Given the description of an element on the screen output the (x, y) to click on. 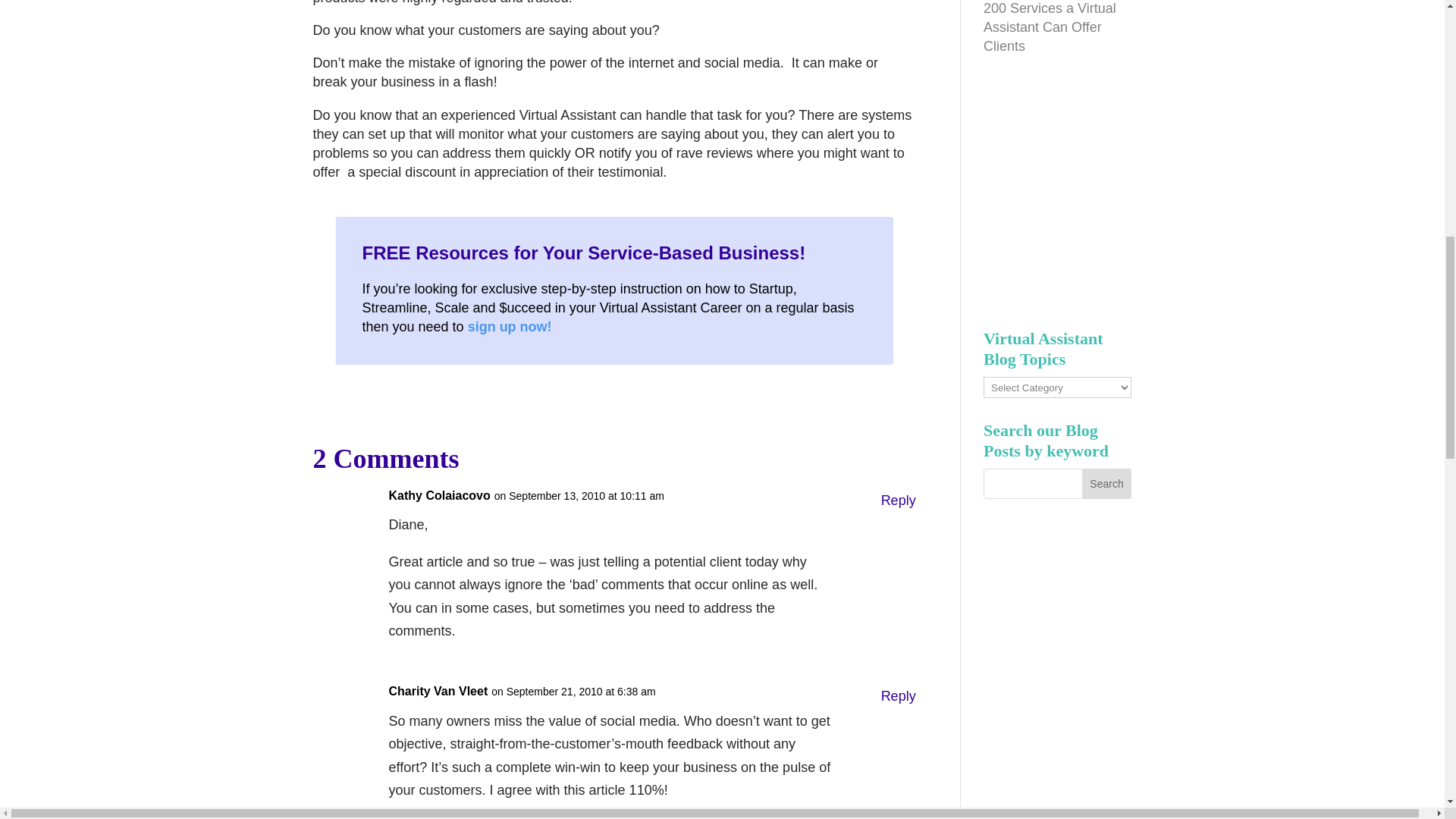
Search (1106, 483)
Kathy Colaiacovo (438, 495)
Charity Van Vleet (437, 691)
200 Services a Virtual Assistant Can Offer Clients (1050, 27)
sign up now! (509, 326)
Search (1106, 483)
Reply (897, 499)
Reply (897, 696)
